Given the description of an element on the screen output the (x, y) to click on. 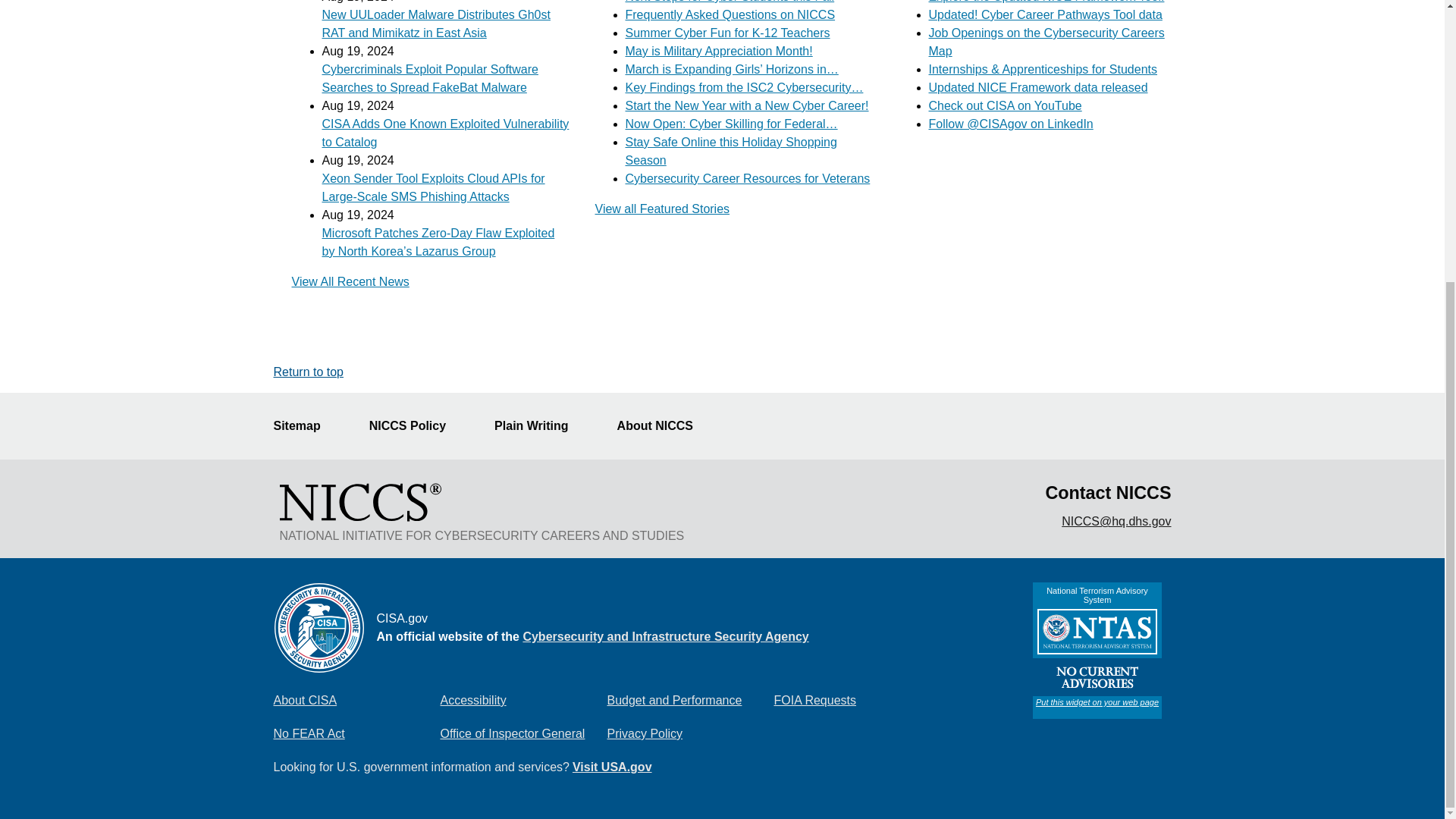
About NICCS (664, 426)
Check out CISA on YouTube (1004, 105)
View All Recent News (350, 281)
Job Openings on the Cybersecurity Careers Map (1045, 41)
Stay Safe Online this Holiday Shopping Season (729, 151)
Explore the Updated NICE Framework Tool! (1045, 1)
Sitemap (305, 426)
National Terrorism Advisory System (1096, 650)
Updated Cyber Career Pathways Tool (1044, 14)
NICCS Policy (416, 426)
